Given the description of an element on the screen output the (x, y) to click on. 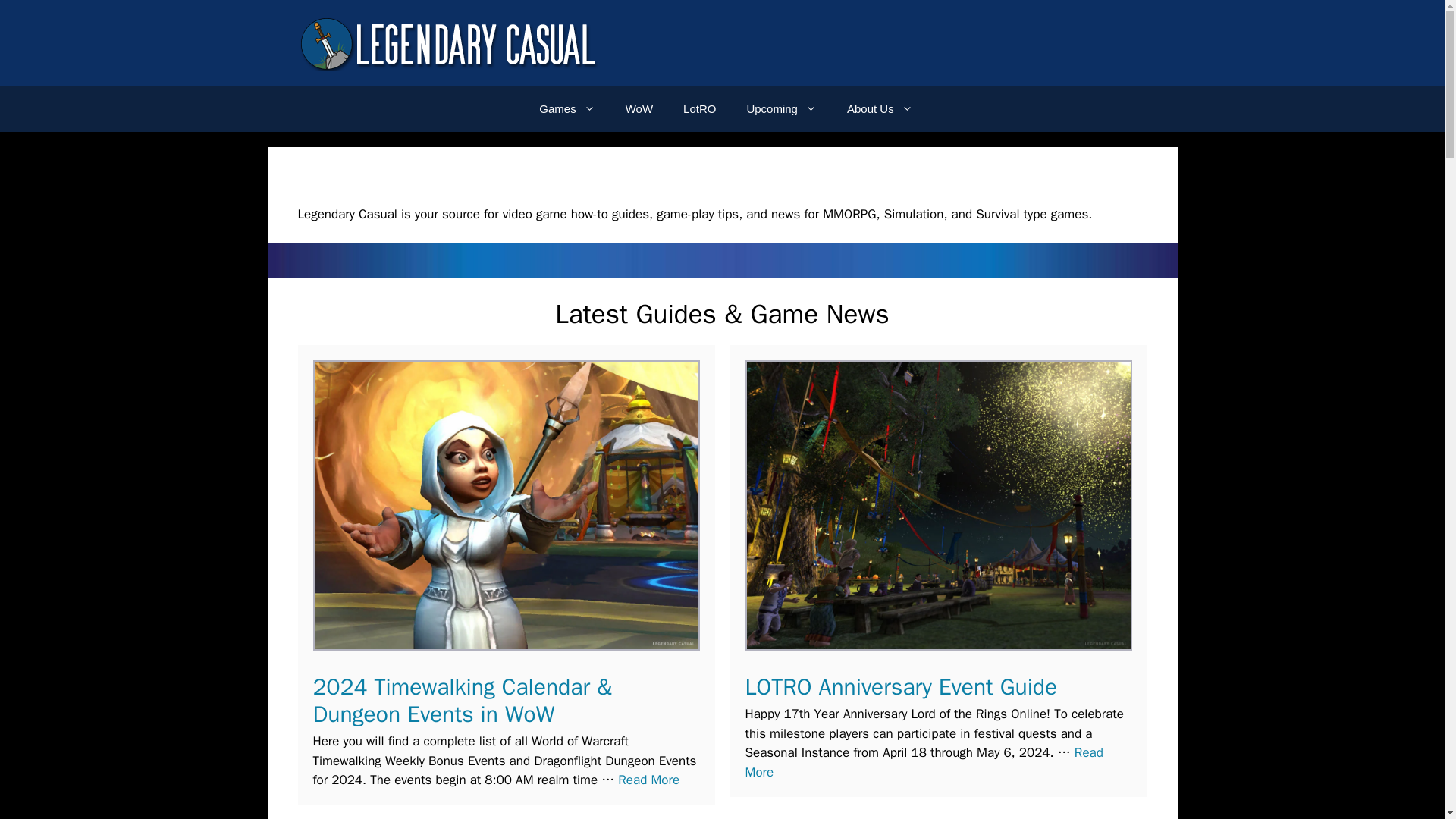
LotRO (699, 108)
Upcoming (780, 108)
About Us (879, 108)
WoW (639, 108)
Games (567, 108)
LOTRO Anniversary Event Guide (923, 762)
Read More (648, 779)
